Given the description of an element on the screen output the (x, y) to click on. 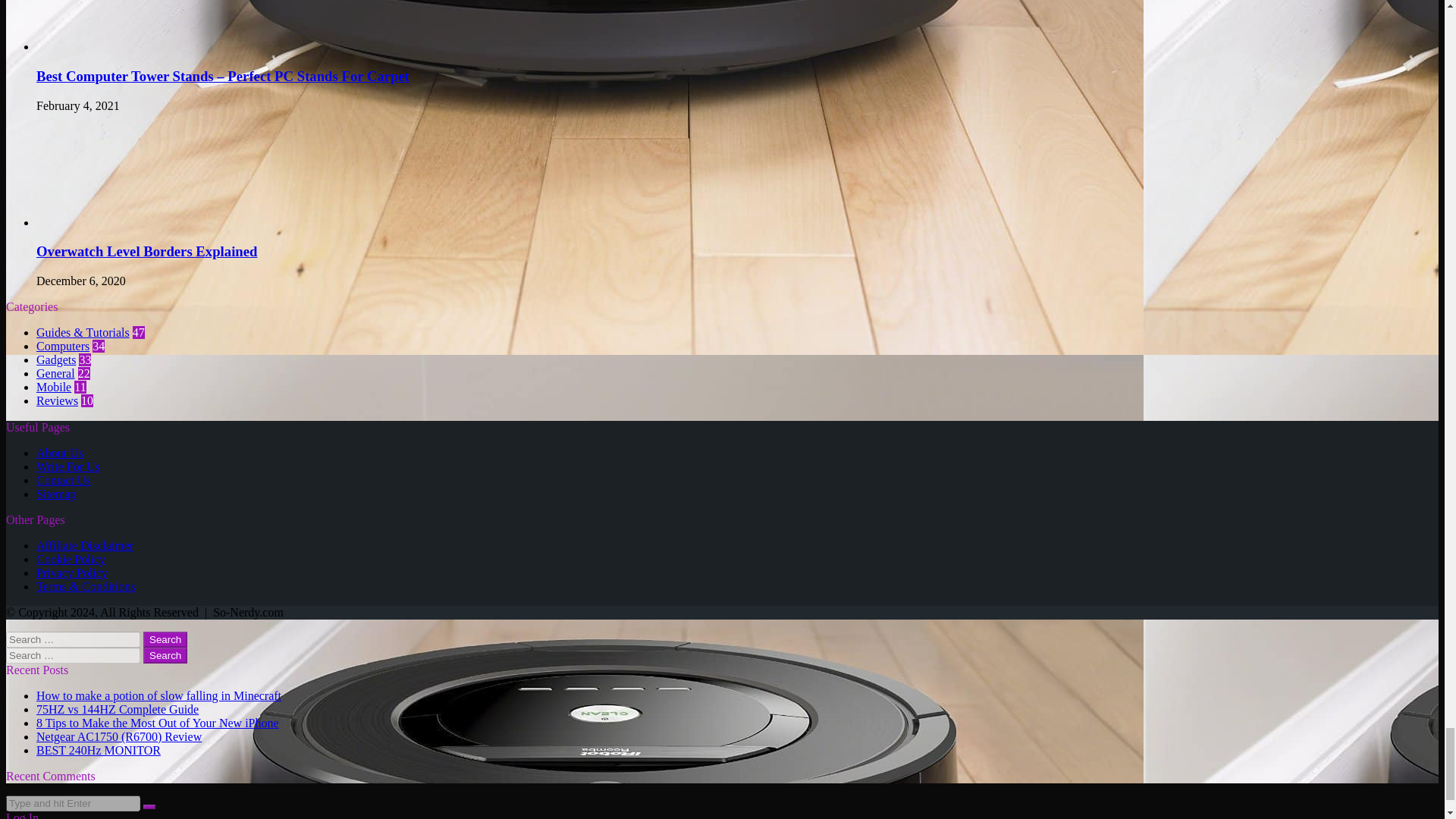
Search (164, 639)
Search (164, 655)
Search (164, 639)
Search (164, 655)
Search for (72, 803)
